Given the description of an element on the screen output the (x, y) to click on. 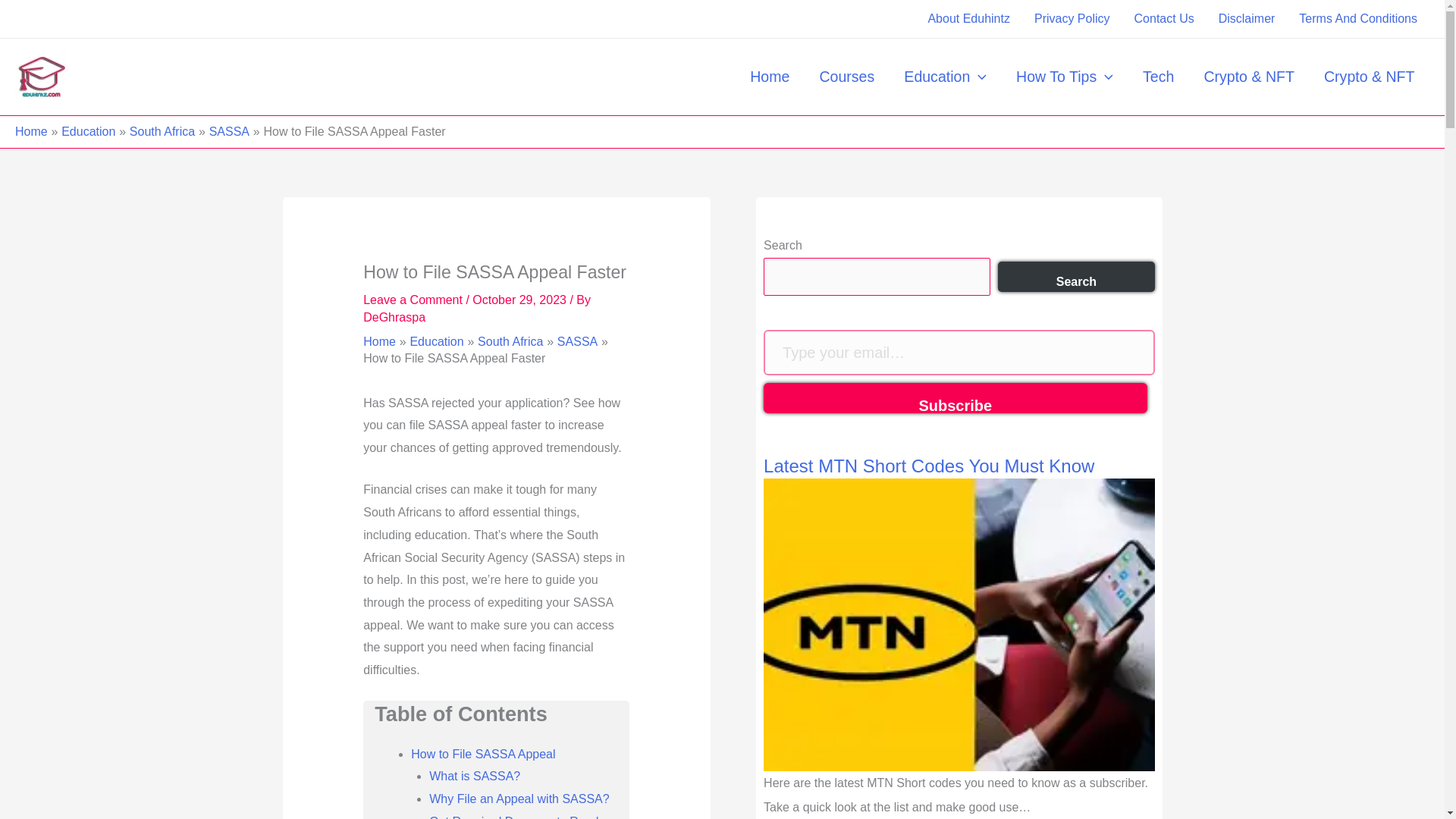
How To Tips (1064, 76)
Home (770, 76)
Tech (1157, 76)
Privacy Policy (1072, 18)
Contact Us (1164, 18)
Education (945, 76)
Terms And Conditions (1358, 18)
View all posts by DeGhraspa (393, 317)
Disclaimer (1247, 18)
Courses (847, 76)
